Given the description of an element on the screen output the (x, y) to click on. 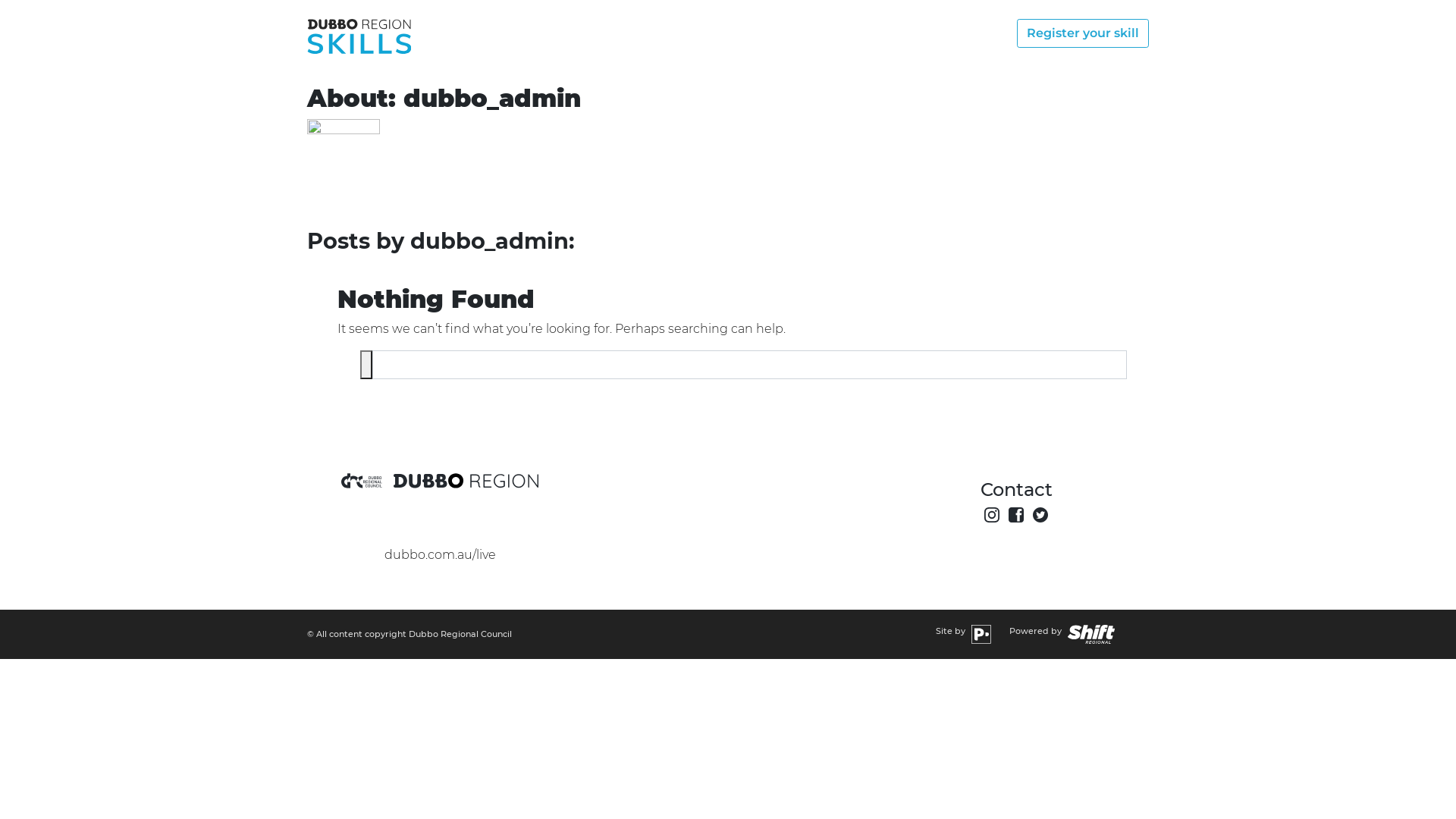
Asset 2 Element type: text (366, 364)
Register your skill Element type: text (1082, 32)
dubbo.com.au/live Element type: text (439, 554)
